Given the description of an element on the screen output the (x, y) to click on. 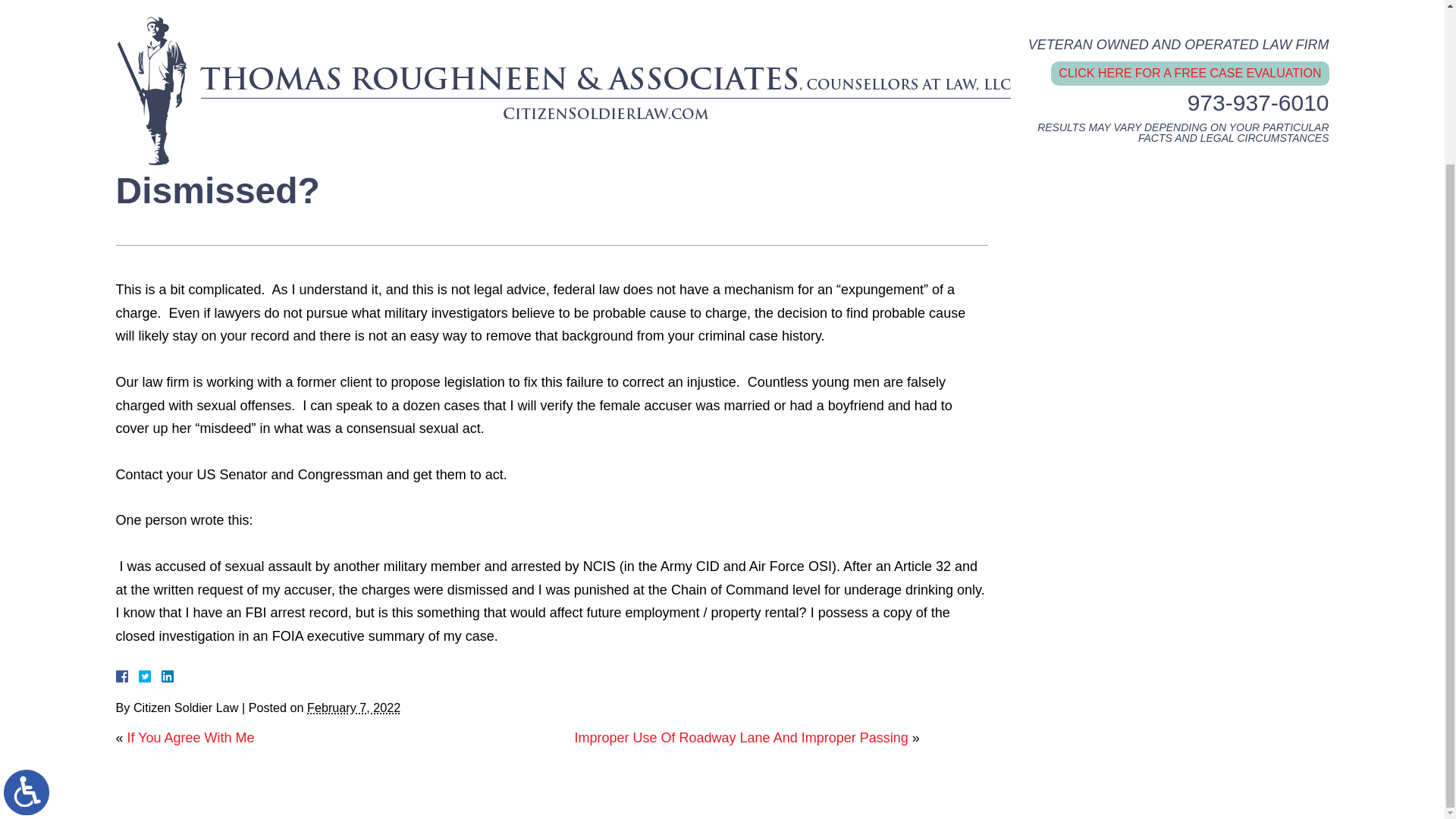
Switch to ADA Accessible Theme (26, 596)
Facebook (139, 676)
LinkedIn (160, 676)
2022-02-07T04:57:54-0800 (353, 707)
Twitter (149, 676)
